Given the description of an element on the screen output the (x, y) to click on. 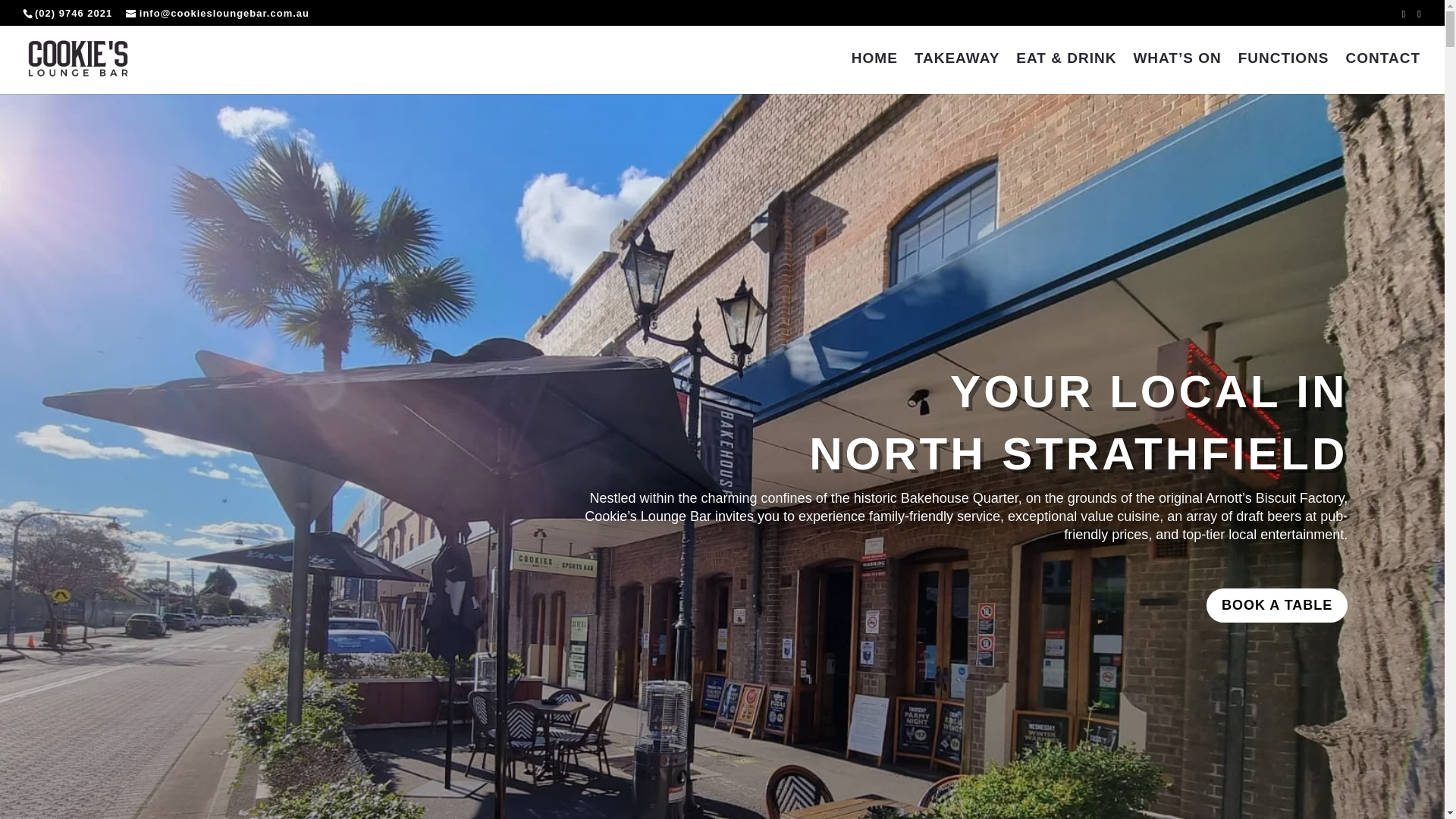
info@cookiesloungebar.com.au Element type: text (217, 12)
HOME Element type: text (874, 73)
EAT & DRINK Element type: text (1066, 73)
CONTACT Element type: text (1383, 73)
FUNCTIONS Element type: text (1283, 73)
TAKEAWAY Element type: text (957, 73)
BOOK A TABLE Element type: text (1276, 605)
